Given the description of an element on the screen output the (x, y) to click on. 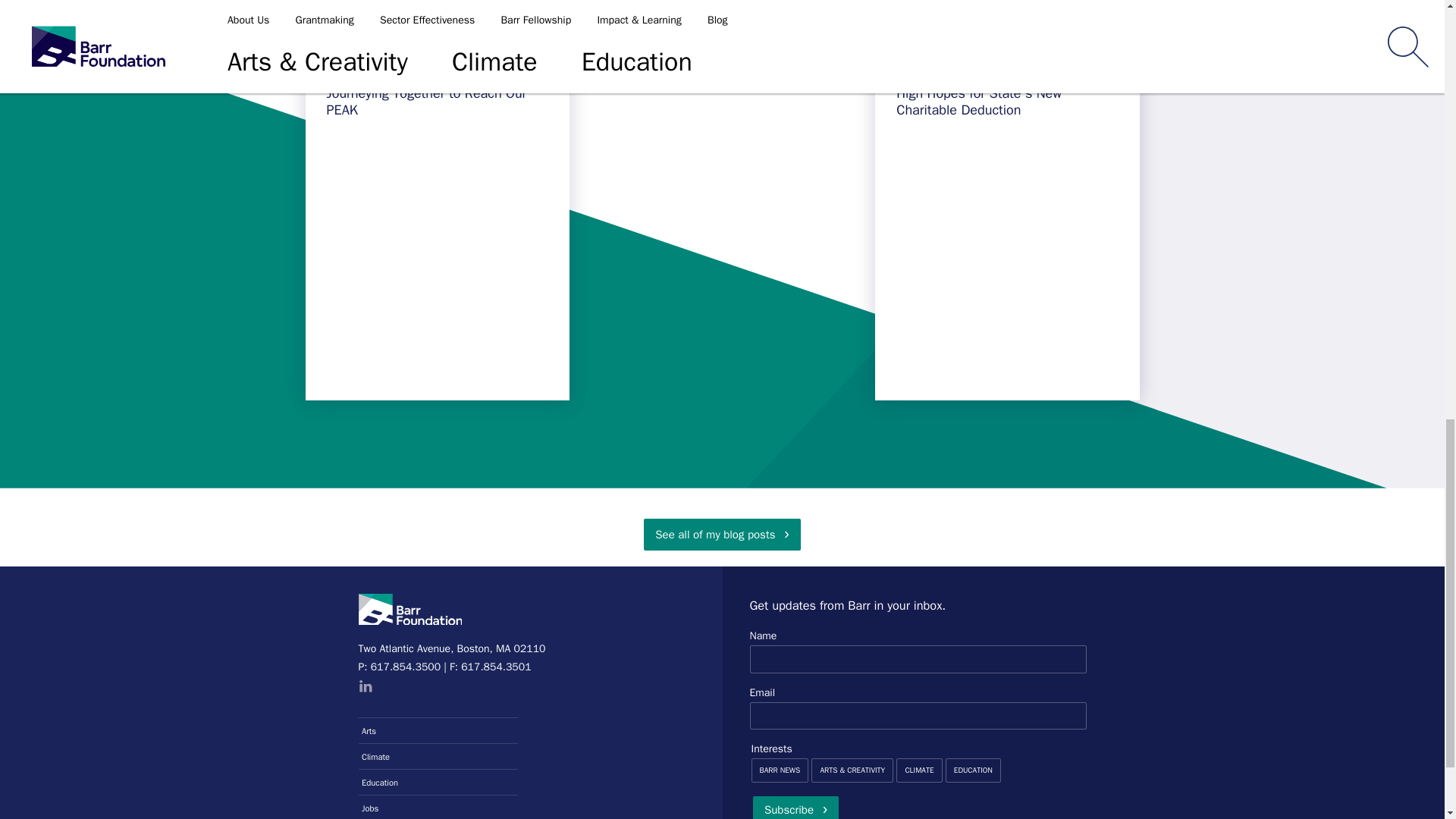
Education (438, 781)
Barr on Linkeedin (364, 686)
Climate (438, 755)
Arts (438, 729)
See all of my blog posts (721, 534)
